Given the description of an element on the screen output the (x, y) to click on. 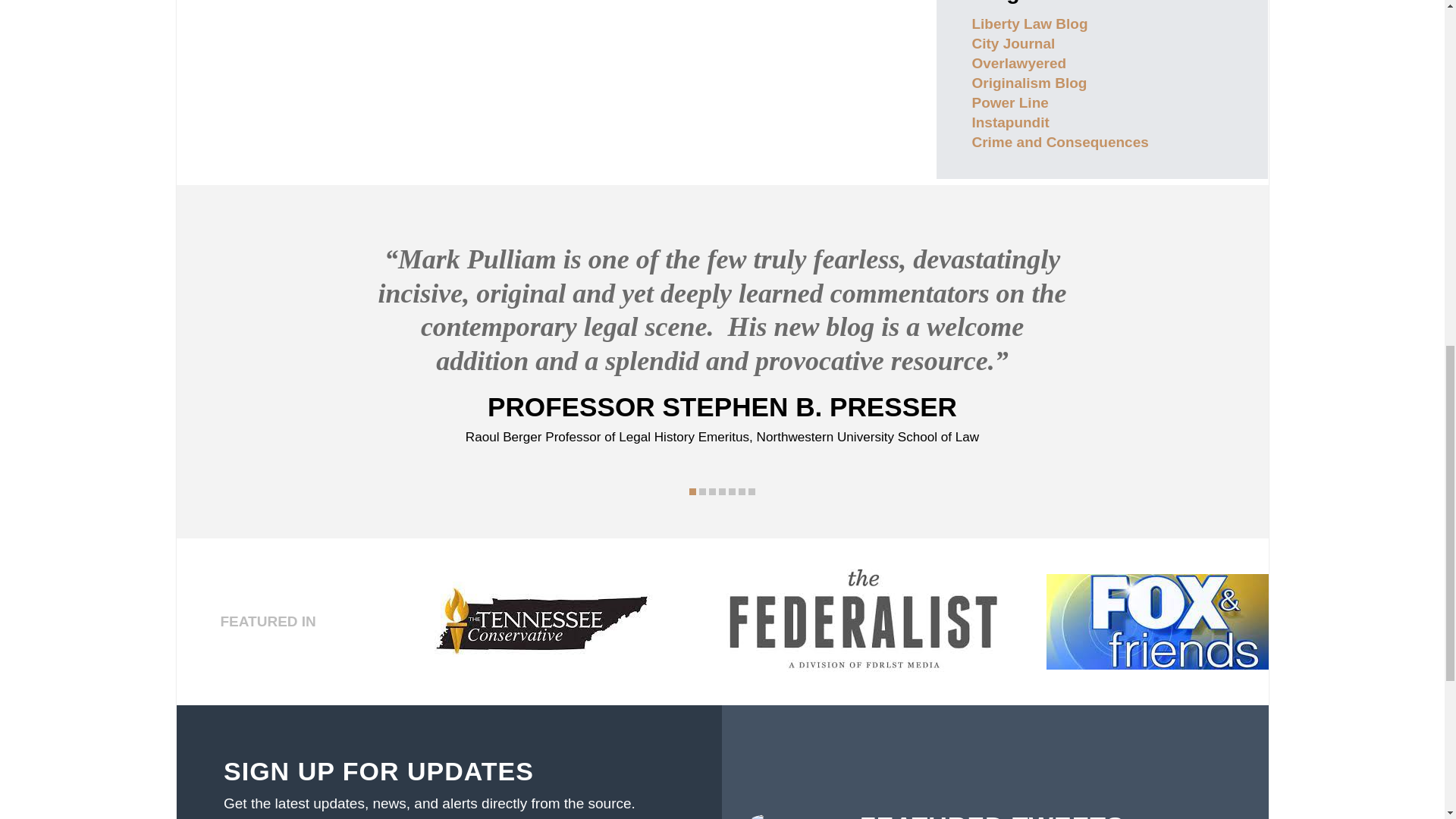
Overlawyered (1018, 63)
Liberty Law Blog (1029, 23)
City Journal (1012, 43)
Power Line (1009, 102)
2 (702, 491)
Instapundit (1009, 122)
Originalism Blog (1028, 82)
Crime and Consequences (1059, 141)
1 (691, 491)
